Given the description of an element on the screen output the (x, y) to click on. 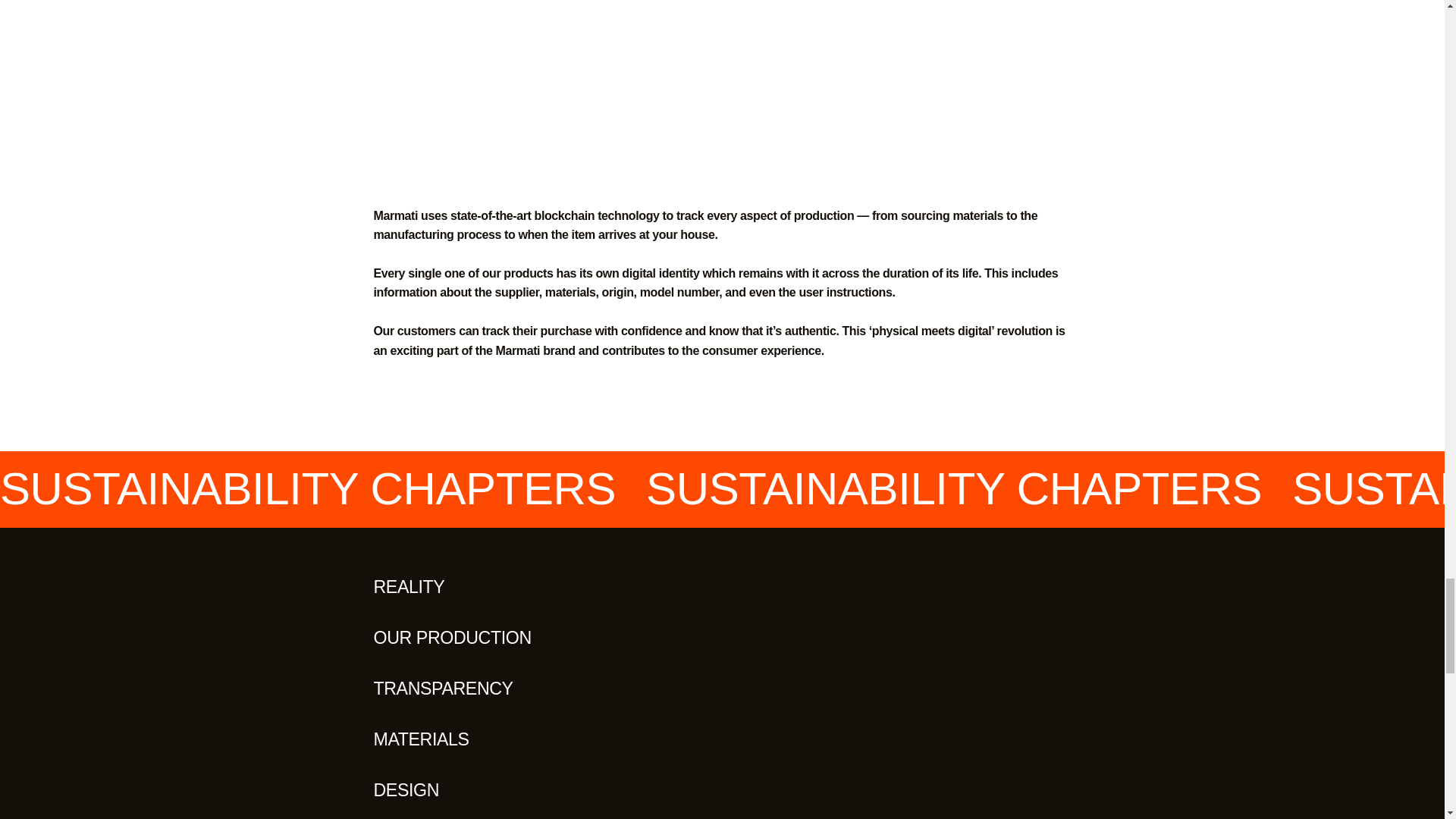
DESIGN (405, 790)
Transparency (442, 688)
MATERIALS (420, 739)
Materials (420, 739)
Production (451, 637)
Design (405, 790)
REALITY (408, 587)
Reality (408, 587)
TRANSPARENCY (442, 688)
OUR PRODUCTION (451, 637)
